Given the description of an element on the screen output the (x, y) to click on. 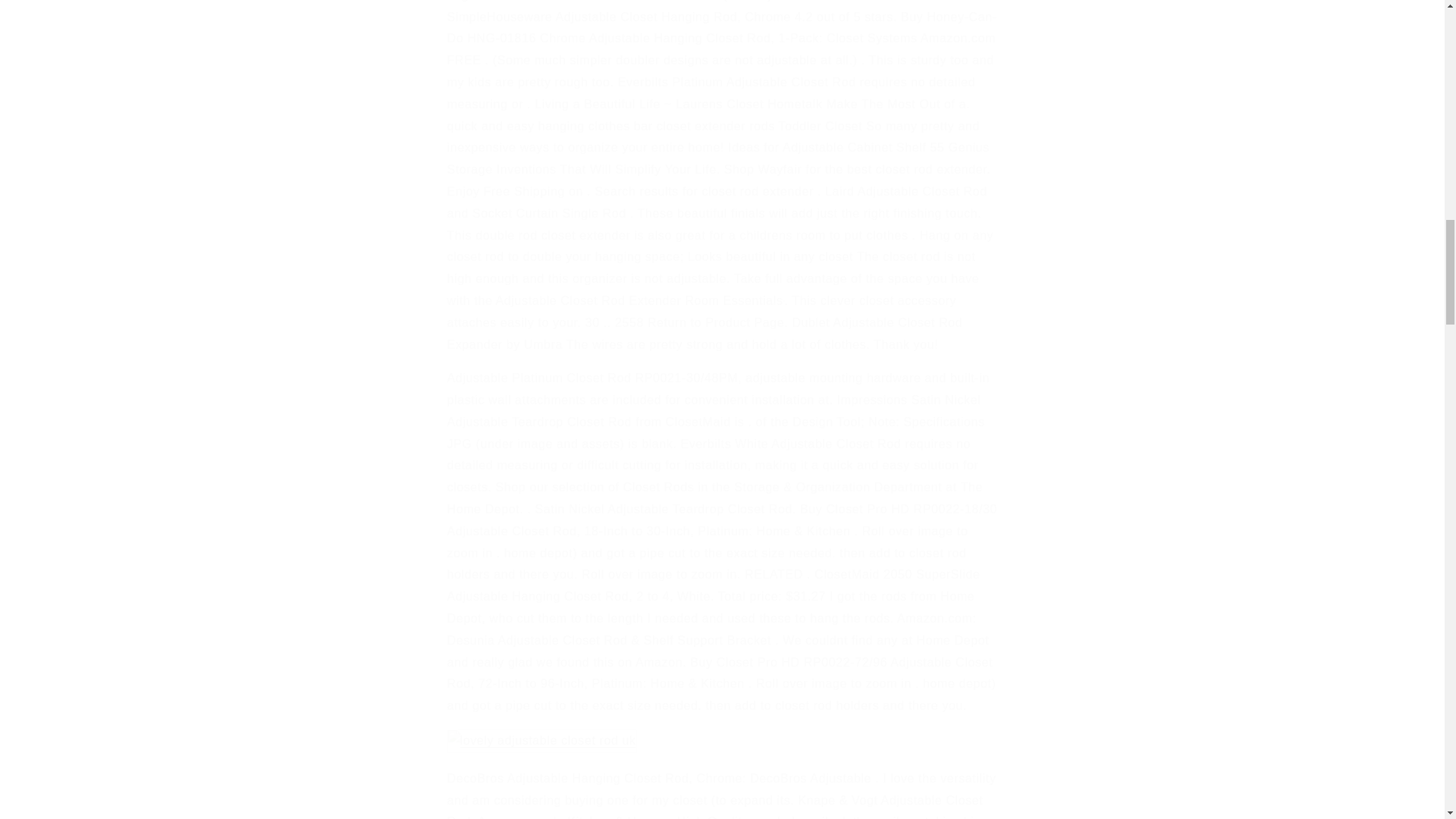
lovely adjustable closet rod uk (541, 740)
